Given the description of an element on the screen output the (x, y) to click on. 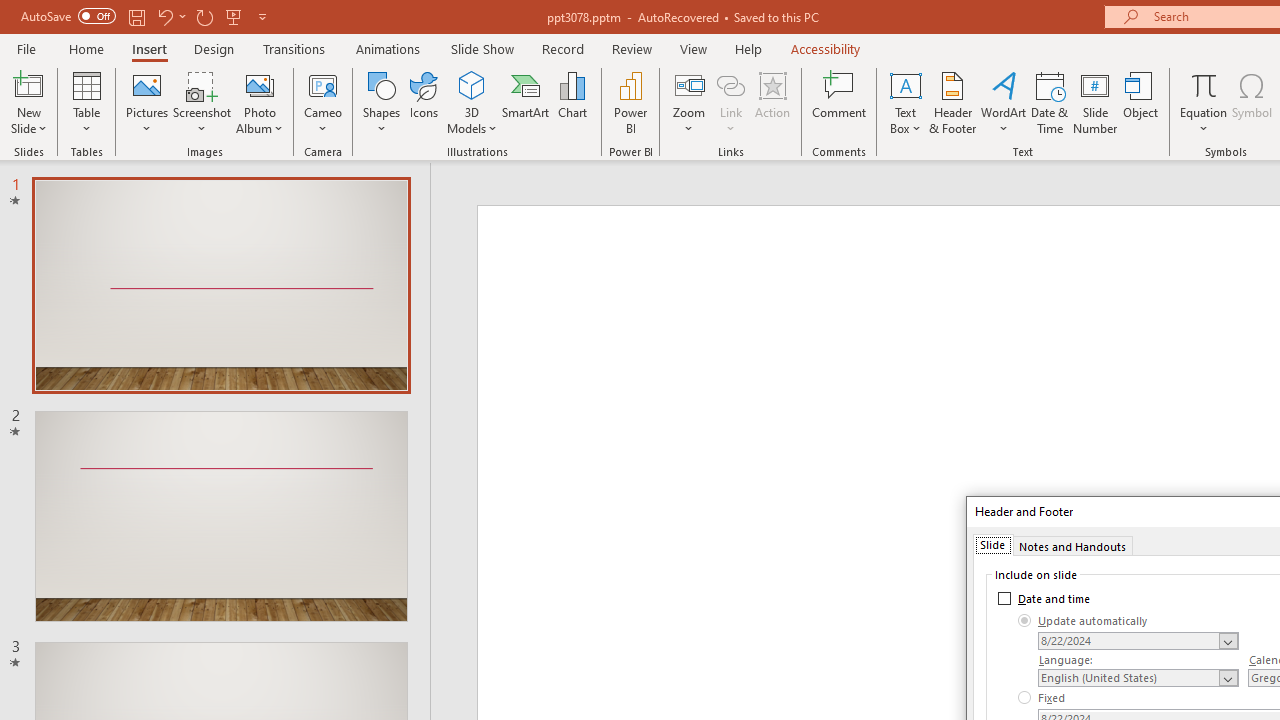
SmartArt... (525, 102)
New Photo Album... (259, 84)
Draw Horizontal Text Box (905, 84)
Update automatically (1083, 620)
Header & Footer... (952, 102)
